Given the description of an element on the screen output the (x, y) to click on. 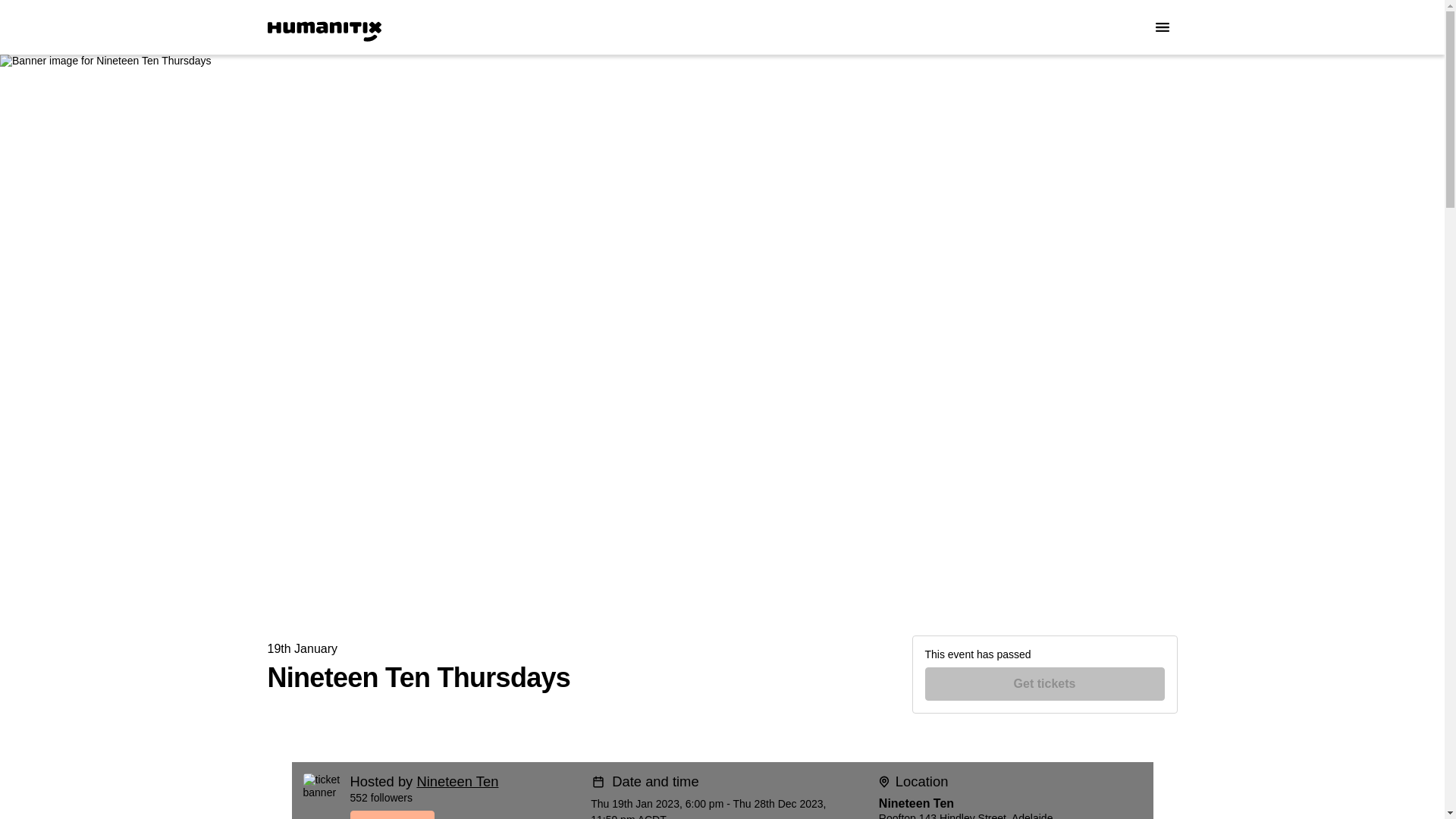
Follow (465, 814)
Nineteen Ten (456, 781)
Get tickets (1044, 684)
Skip to Content (18, 18)
